Given the description of an element on the screen output the (x, y) to click on. 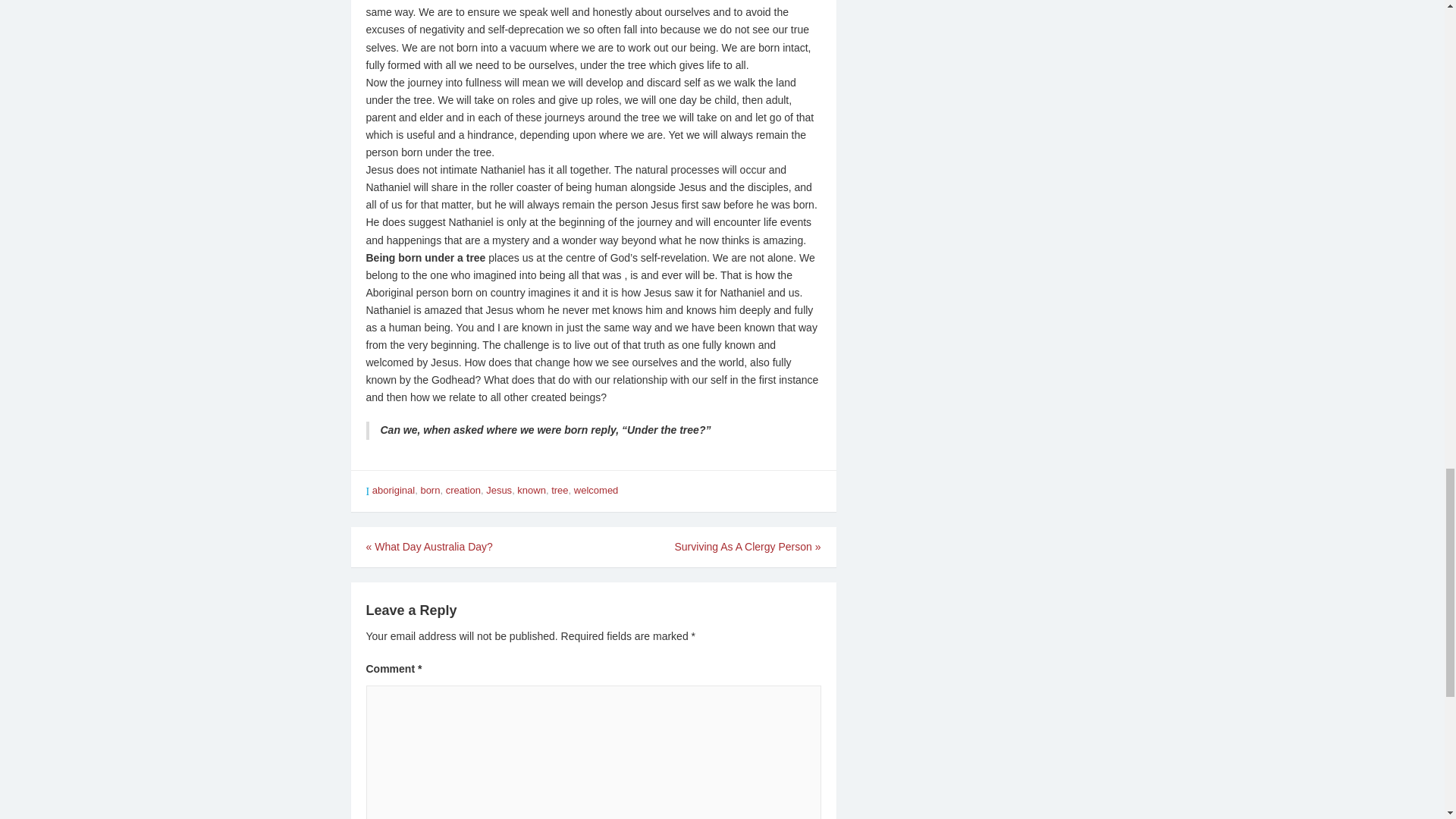
welcomed (595, 490)
creation (462, 490)
known (531, 490)
Jesus (499, 490)
aboriginal (393, 490)
born (429, 490)
tree (559, 490)
